Given the description of an element on the screen output the (x, y) to click on. 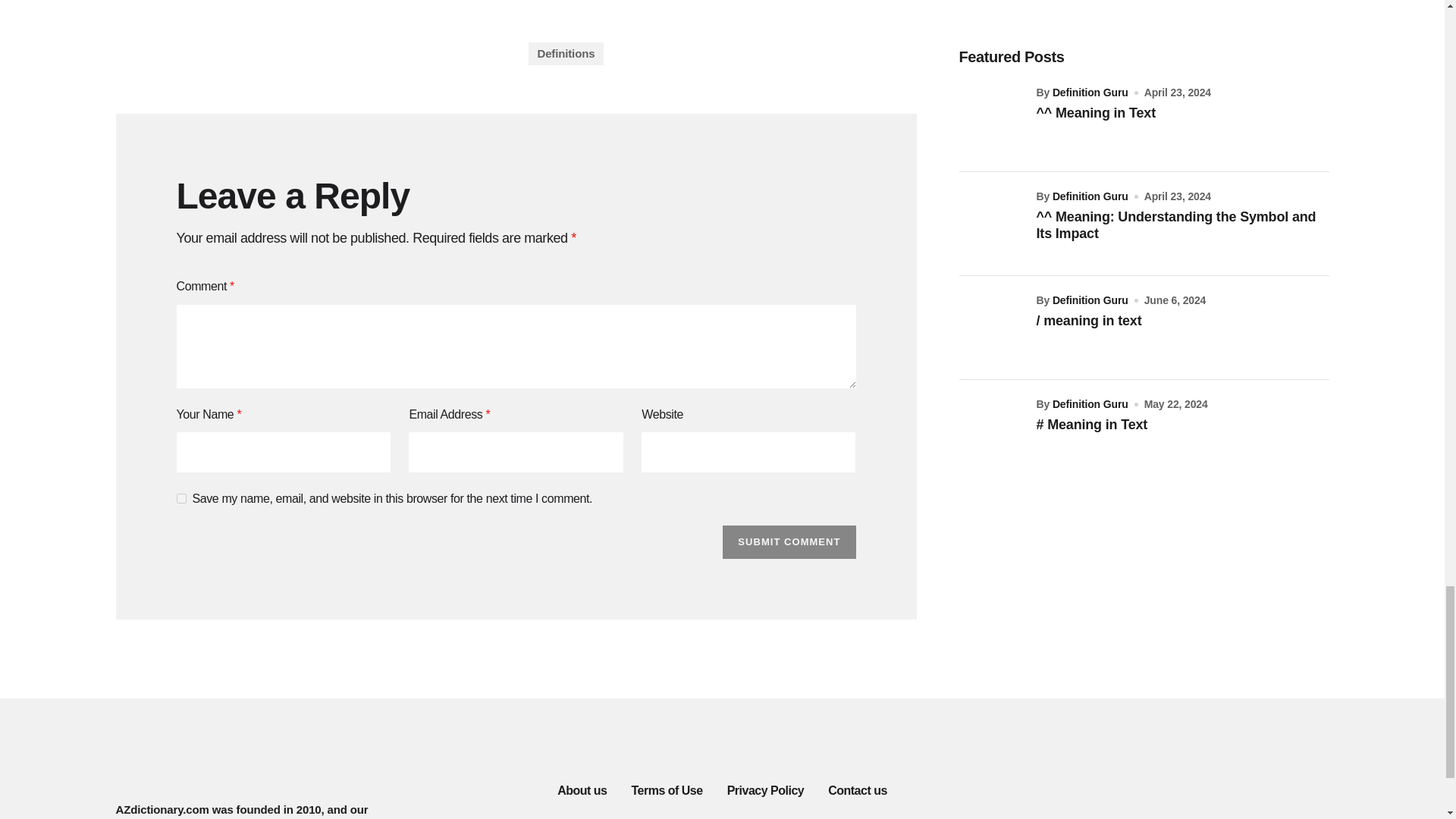
SUBMIT COMMENT (789, 541)
Definitions (565, 53)
yes (181, 498)
Define Company (309, 32)
